Given the description of an element on the screen output the (x, y) to click on. 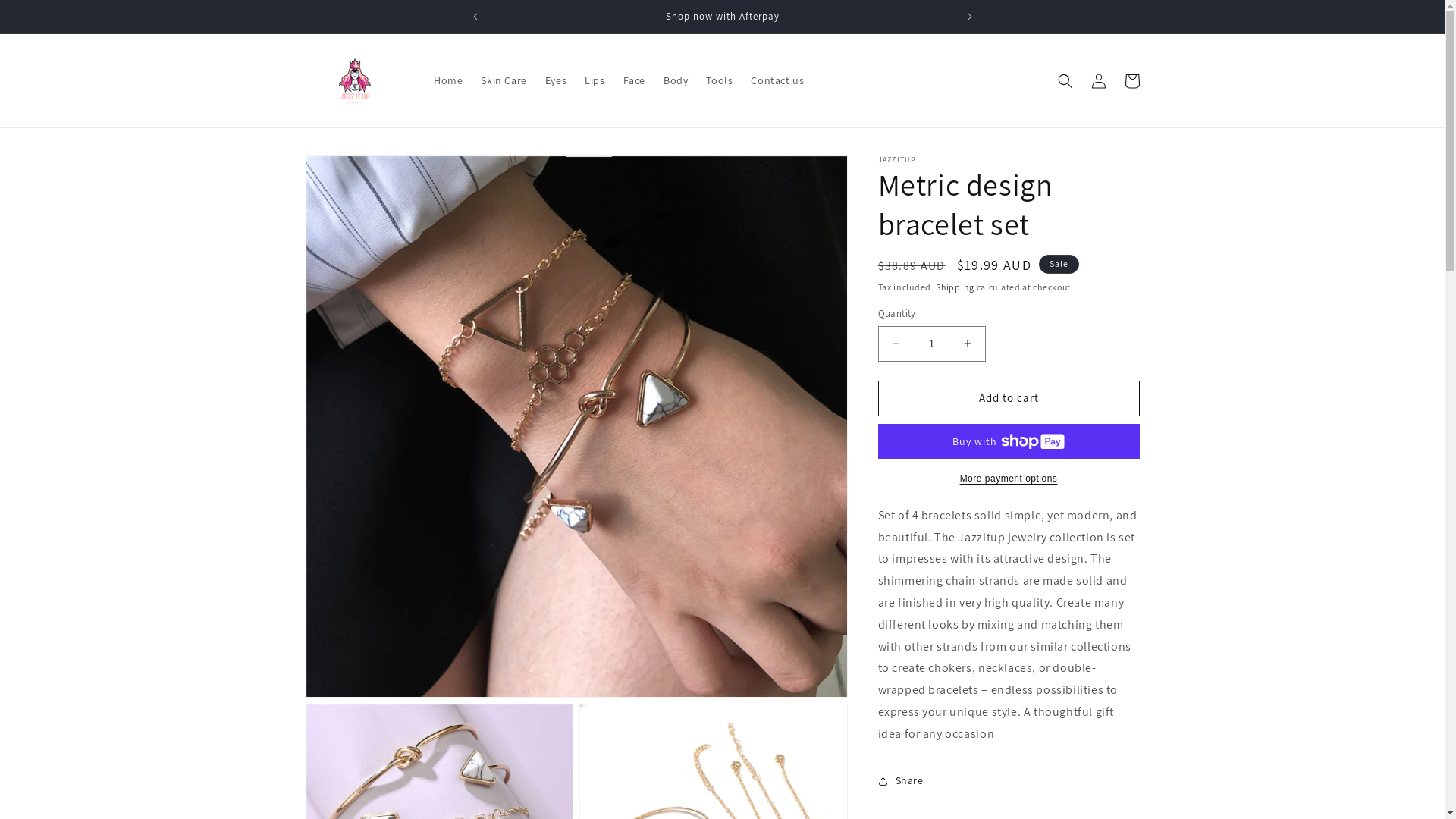
Increase quantity for Metric design bracelet set Element type: text (967, 343)
Add to cart Element type: text (1008, 398)
Home Element type: text (447, 80)
Eyes Element type: text (555, 80)
Face Element type: text (634, 80)
Log in Element type: text (1097, 80)
Lips Element type: text (594, 80)
Tools Element type: text (718, 80)
Cart Element type: text (1131, 80)
Decrease quantity for Metric design bracelet set Element type: text (895, 343)
Skin Care Element type: text (503, 80)
Shipping Element type: text (954, 286)
More payment options Element type: text (1008, 478)
Contact us Element type: text (776, 80)
Body Element type: text (675, 80)
Skip to product information Element type: text (350, 172)
